Given the description of an element on the screen output the (x, y) to click on. 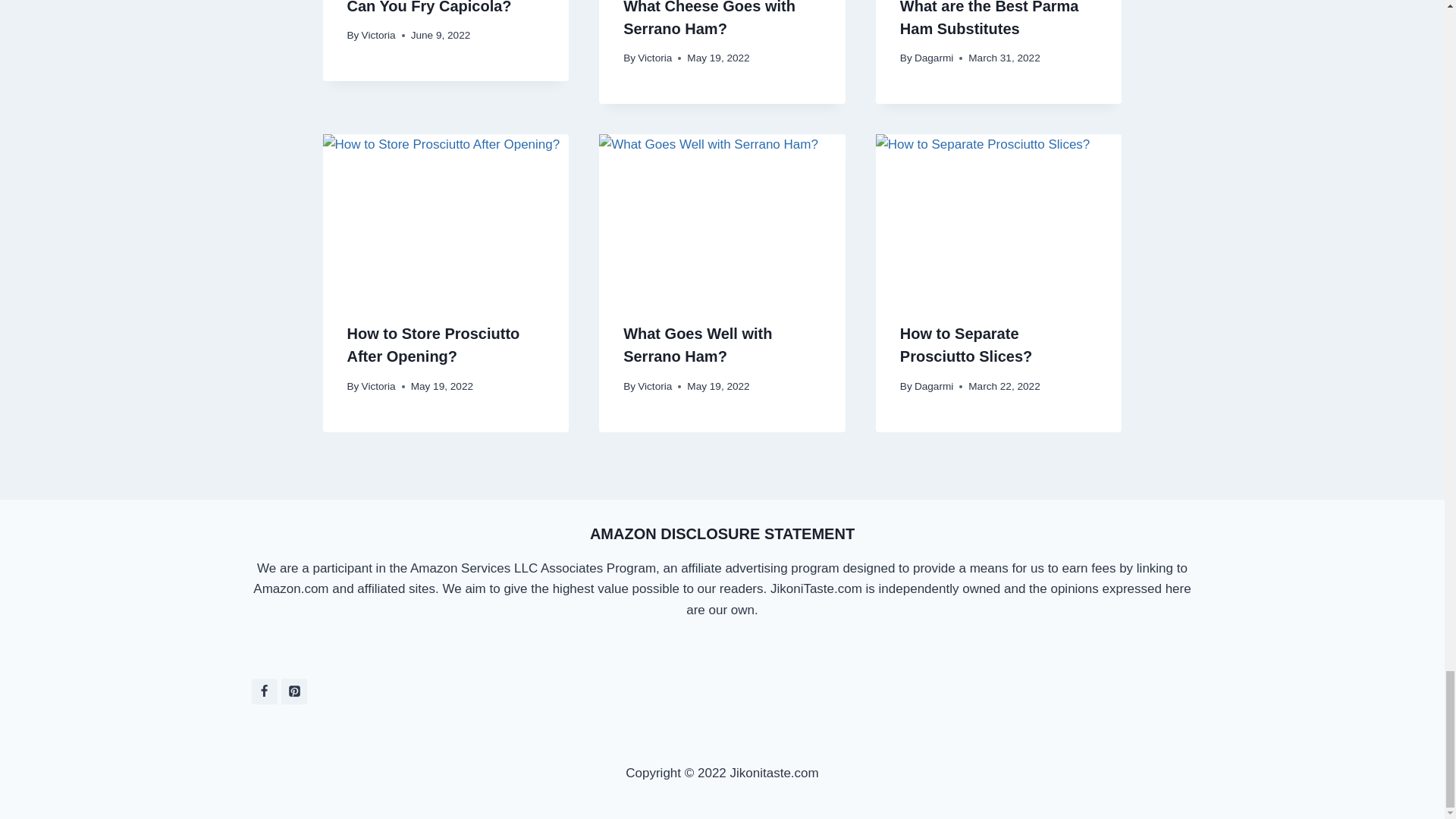
What Cheese Goes with Serrano Ham? (708, 18)
Victoria (378, 34)
Victoria (654, 57)
Can You Fry Capicola? (429, 7)
